Given the description of an element on the screen output the (x, y) to click on. 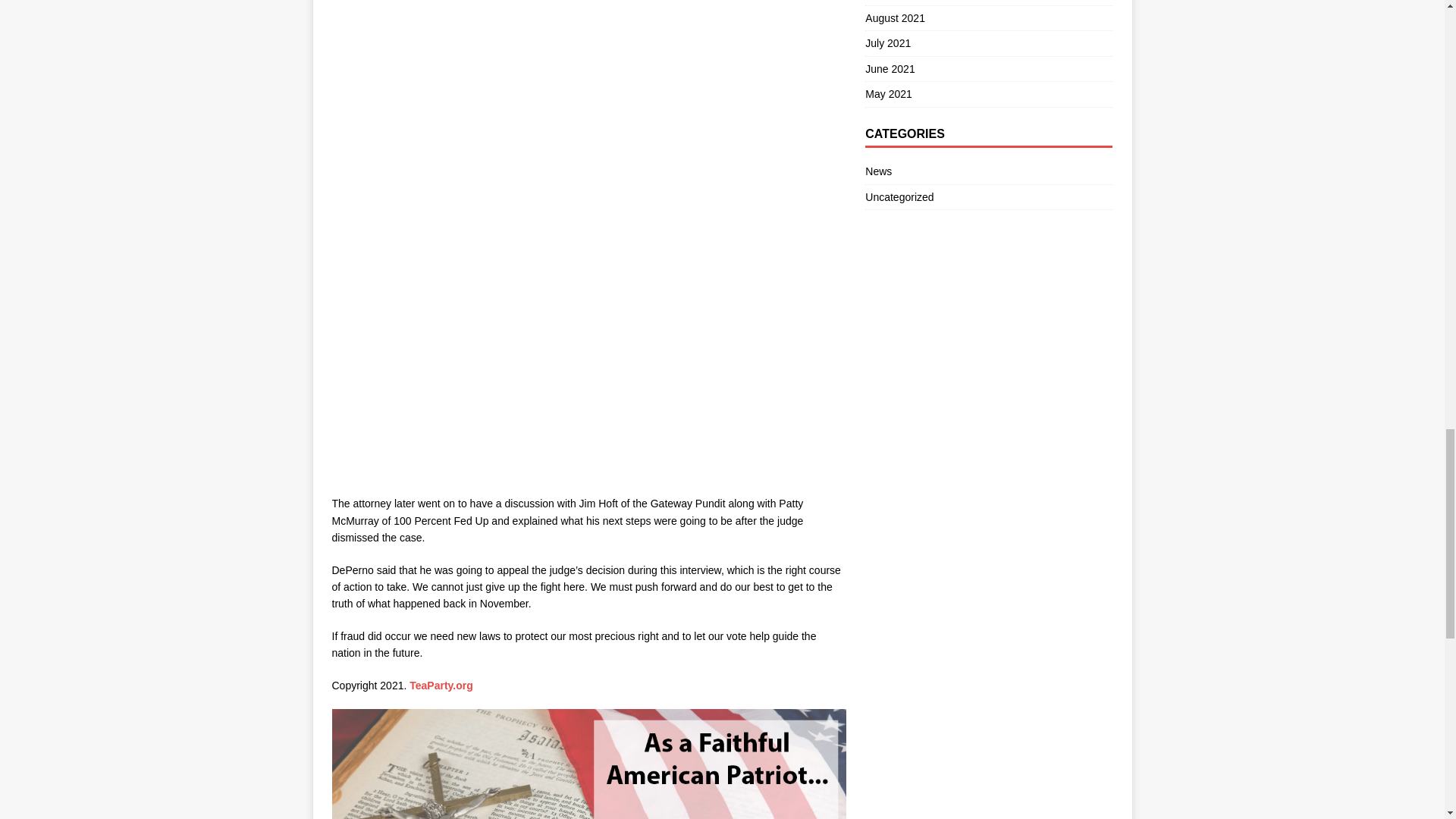
TeaParty.org (441, 685)
